Given the description of an element on the screen output the (x, y) to click on. 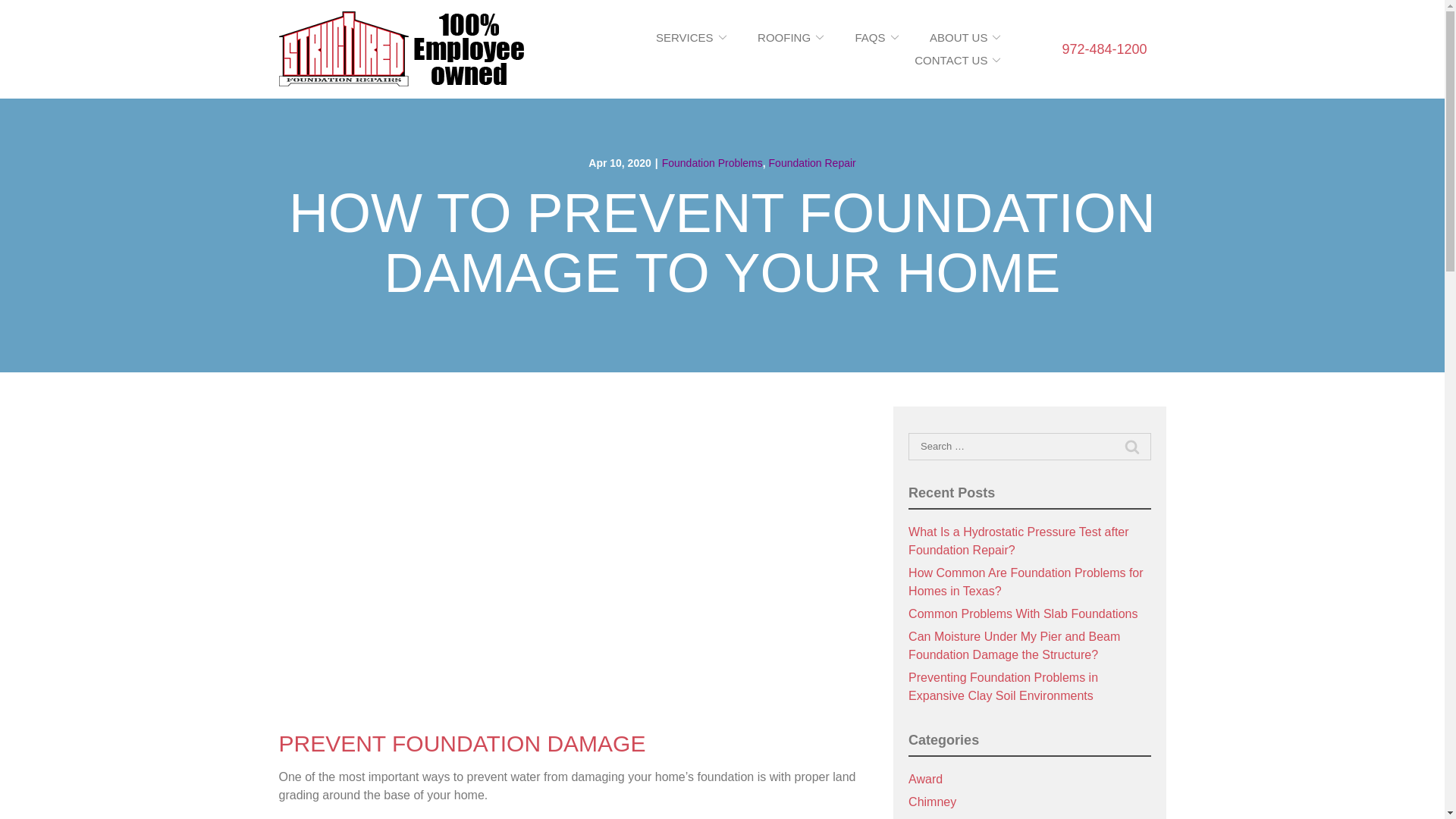
SERVICES (691, 37)
CONTACT US (957, 60)
FAQS (877, 37)
ROOFING (790, 37)
ABOUT US (965, 37)
